Given the description of an element on the screen output the (x, y) to click on. 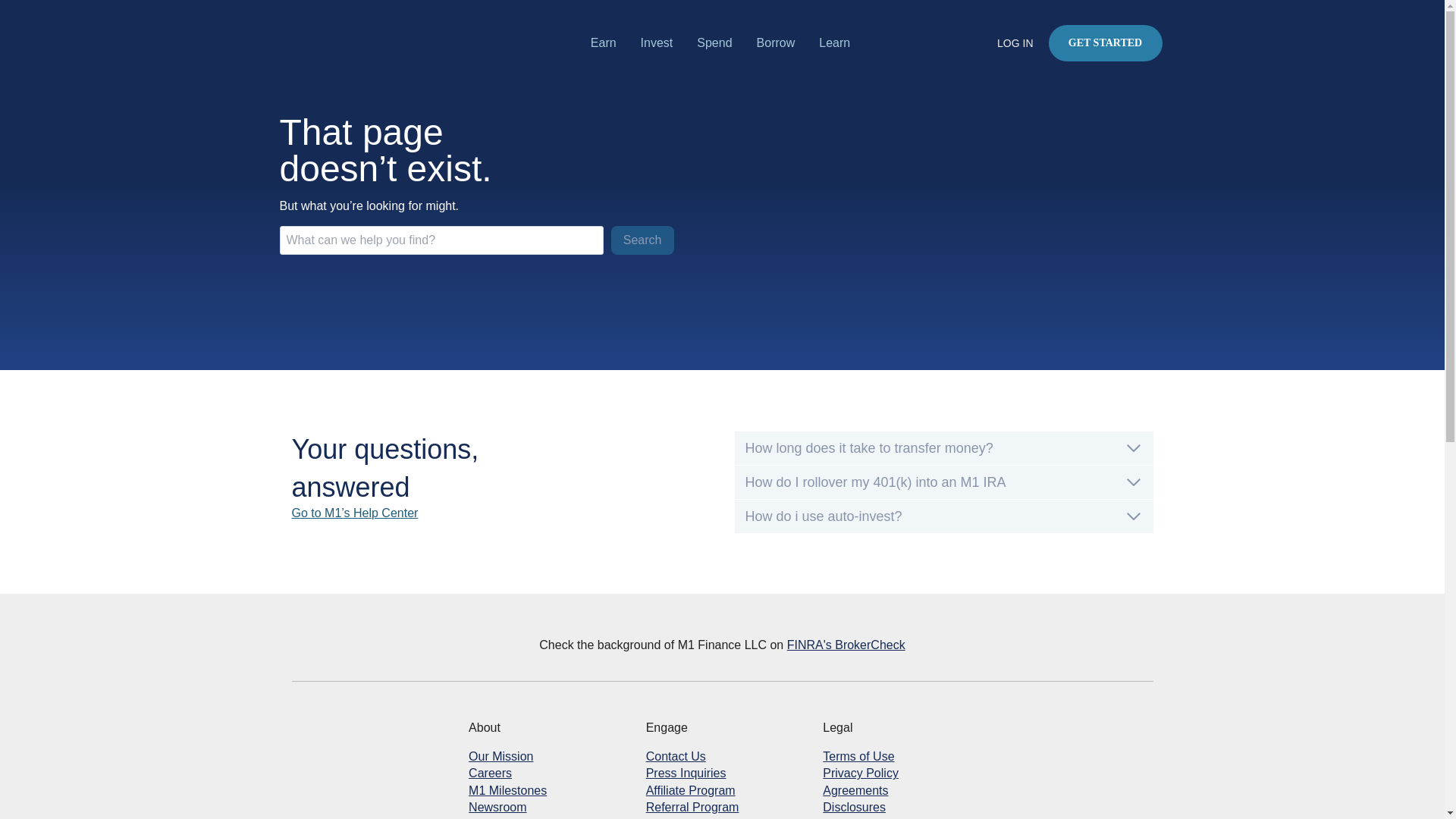
Borrow (782, 42)
Spend (719, 42)
Earn (609, 42)
Invest (662, 42)
Learn (839, 42)
